Given the description of an element on the screen output the (x, y) to click on. 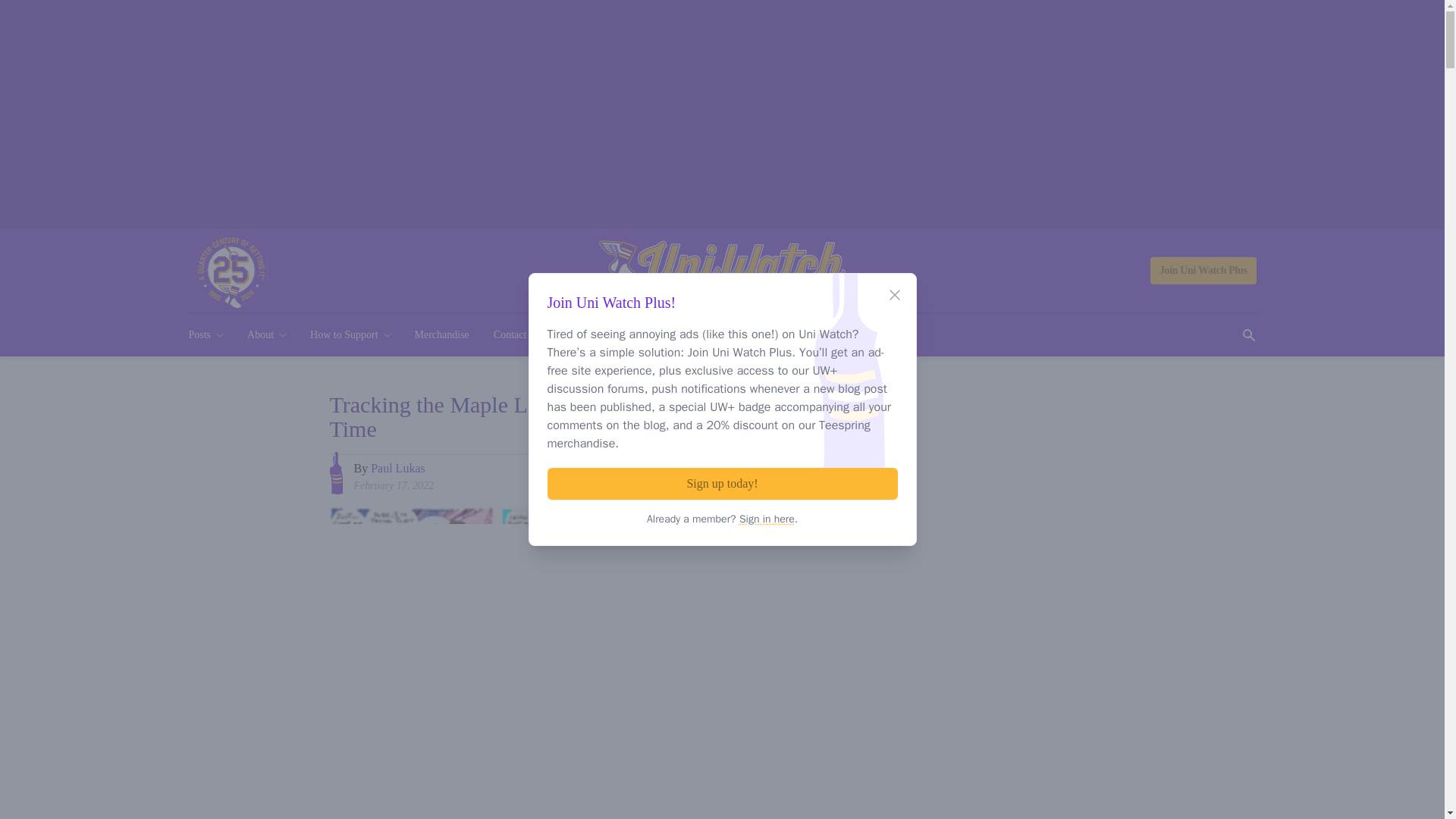
Sign in here (766, 518)
Close (894, 294)
Join Uni Watch Plus (1203, 270)
Sign up today! (722, 483)
Uni Watch (721, 270)
Uni Watch (721, 270)
Share on Twitter (796, 474)
Share on Facebook (768, 474)
